Given the description of an element on the screen output the (x, y) to click on. 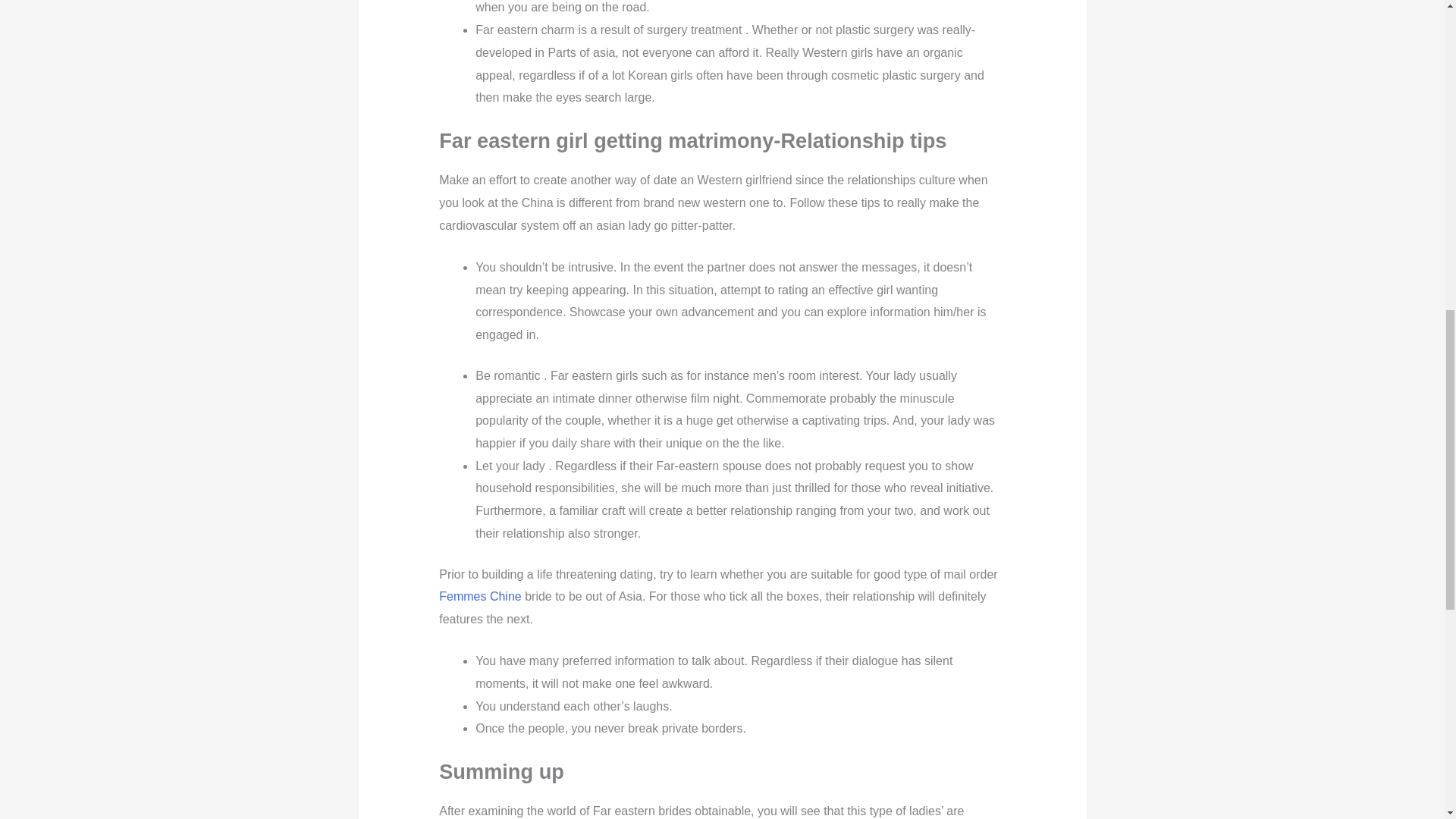
Femmes Chine (480, 595)
